Given the description of an element on the screen output the (x, y) to click on. 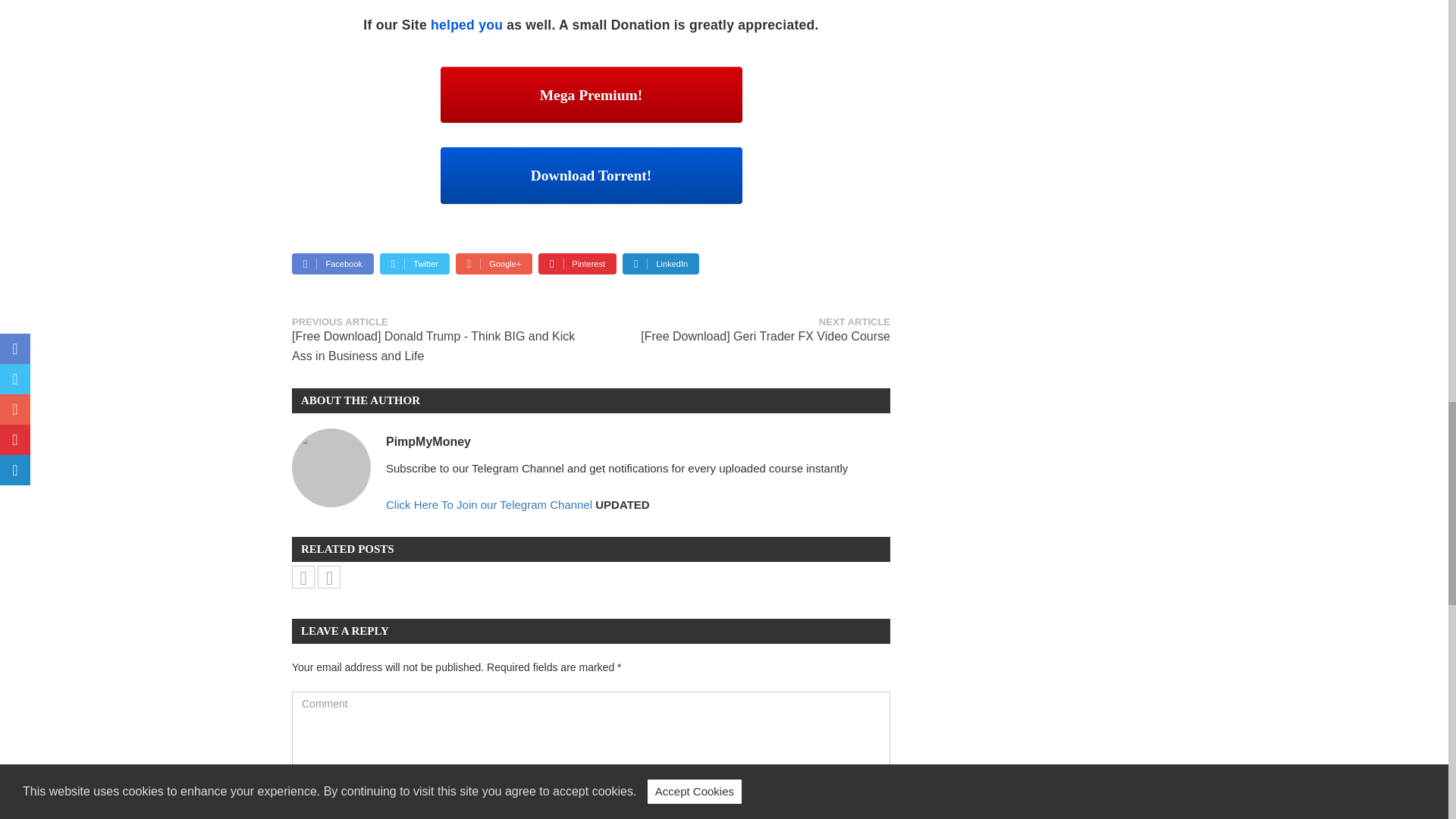
Pinterest (576, 263)
Mega Premium! (590, 94)
Share on Pinterest (576, 263)
Facebook (333, 263)
PimpMyMoney (427, 440)
Share on LinkedIn (660, 263)
Share on Twitter (414, 263)
Donation (640, 24)
Download Torrent! (590, 174)
LinkedIn (660, 263)
Click Here To Join our Telegram Channel (488, 504)
Share on Facebook (333, 263)
Twitter (414, 263)
